Given the description of an element on the screen output the (x, y) to click on. 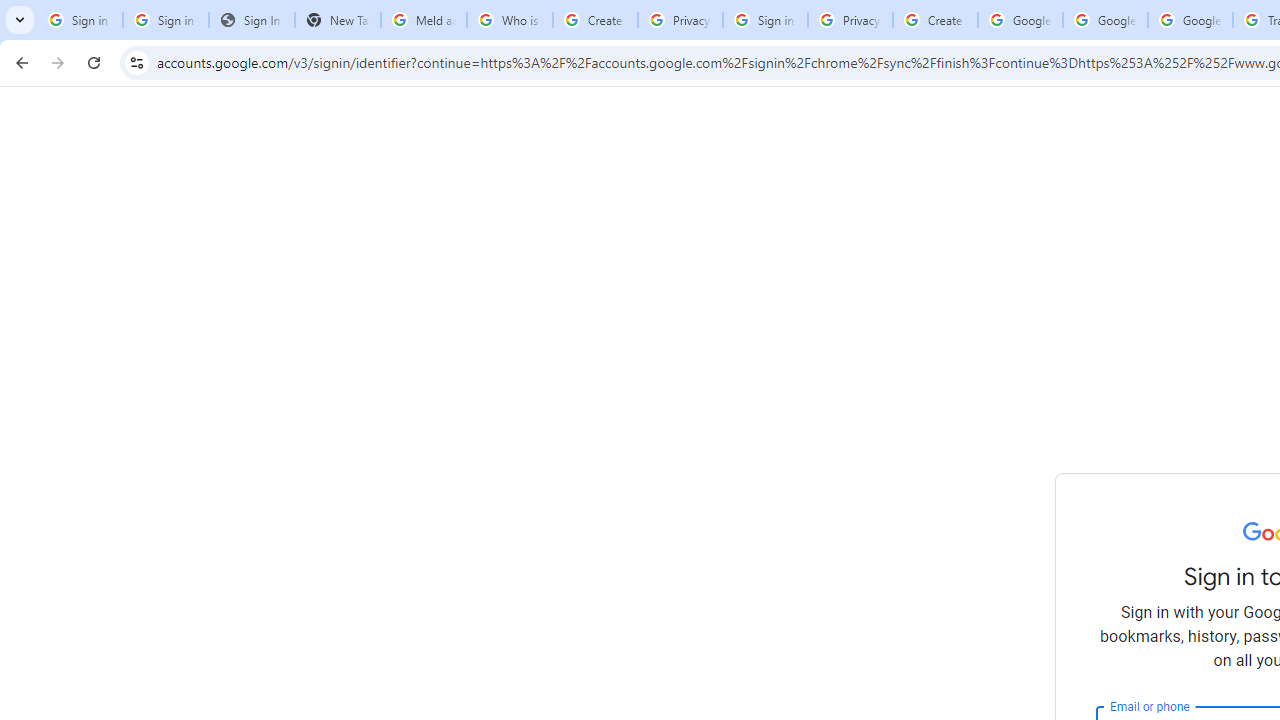
Sign in - Google Accounts (765, 20)
Create your Google Account (595, 20)
